Given the description of an element on the screen output the (x, y) to click on. 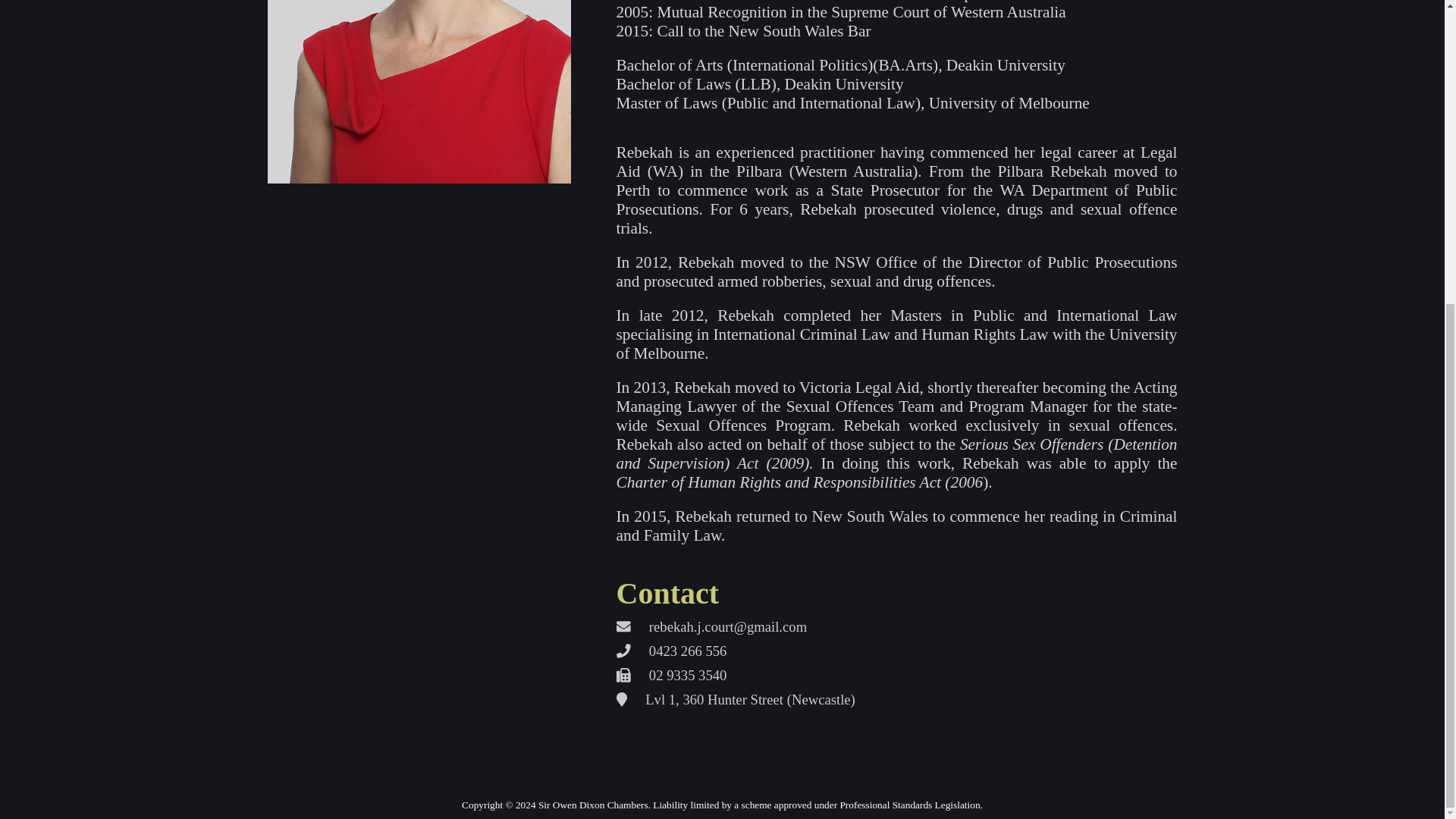
0423 266 556 (895, 651)
Rebekah Court (418, 91)
02 9335 3540 (895, 675)
